Given the description of an element on the screen output the (x, y) to click on. 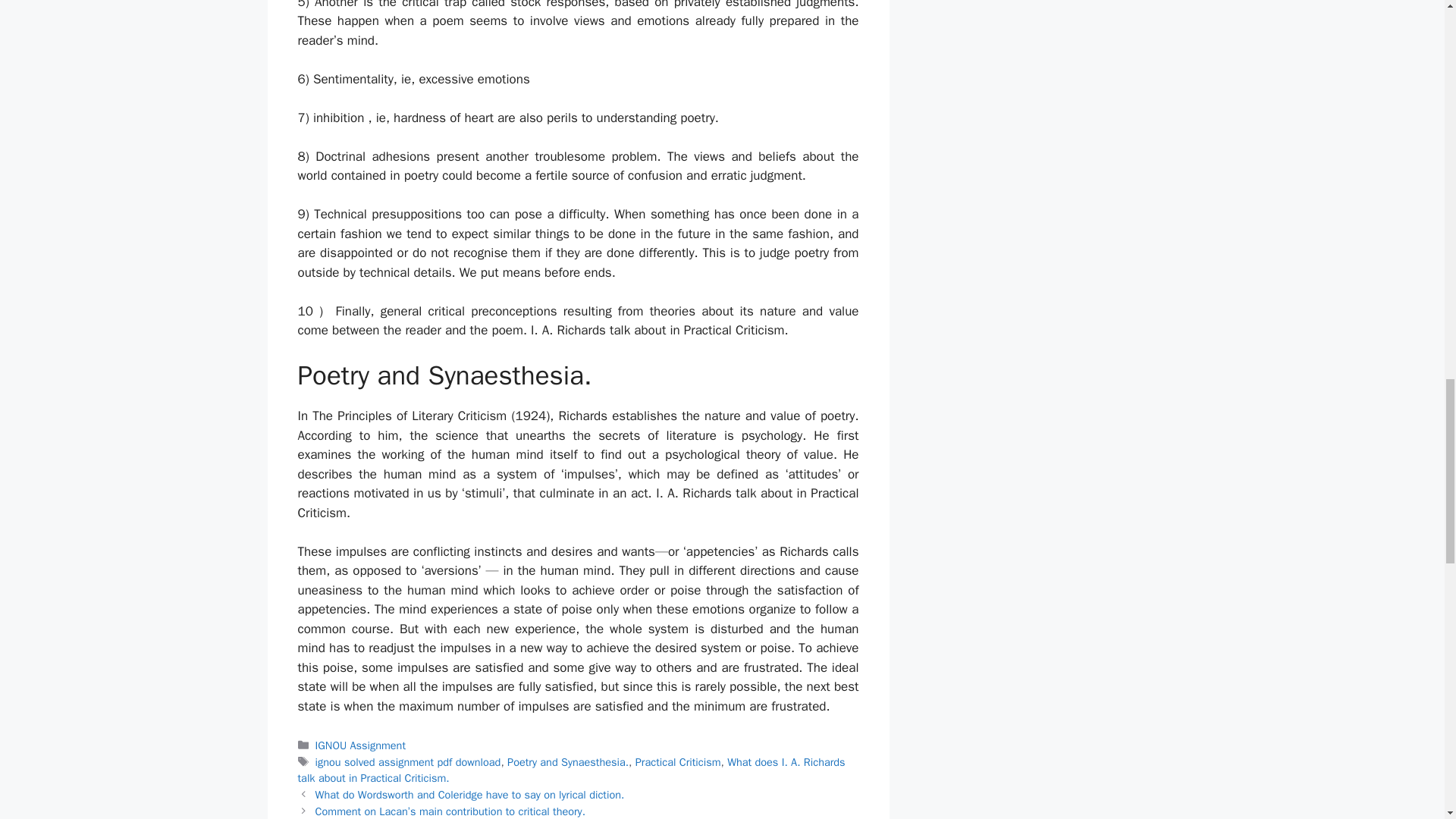
Practical Criticism (677, 762)
IGNOU Assignment (360, 745)
What does I. A. Richards talk about in Practical Criticism. (570, 770)
Poetry and Synaesthesia. (567, 762)
ignou solved assignment pdf download (407, 762)
